Given the description of an element on the screen output the (x, y) to click on. 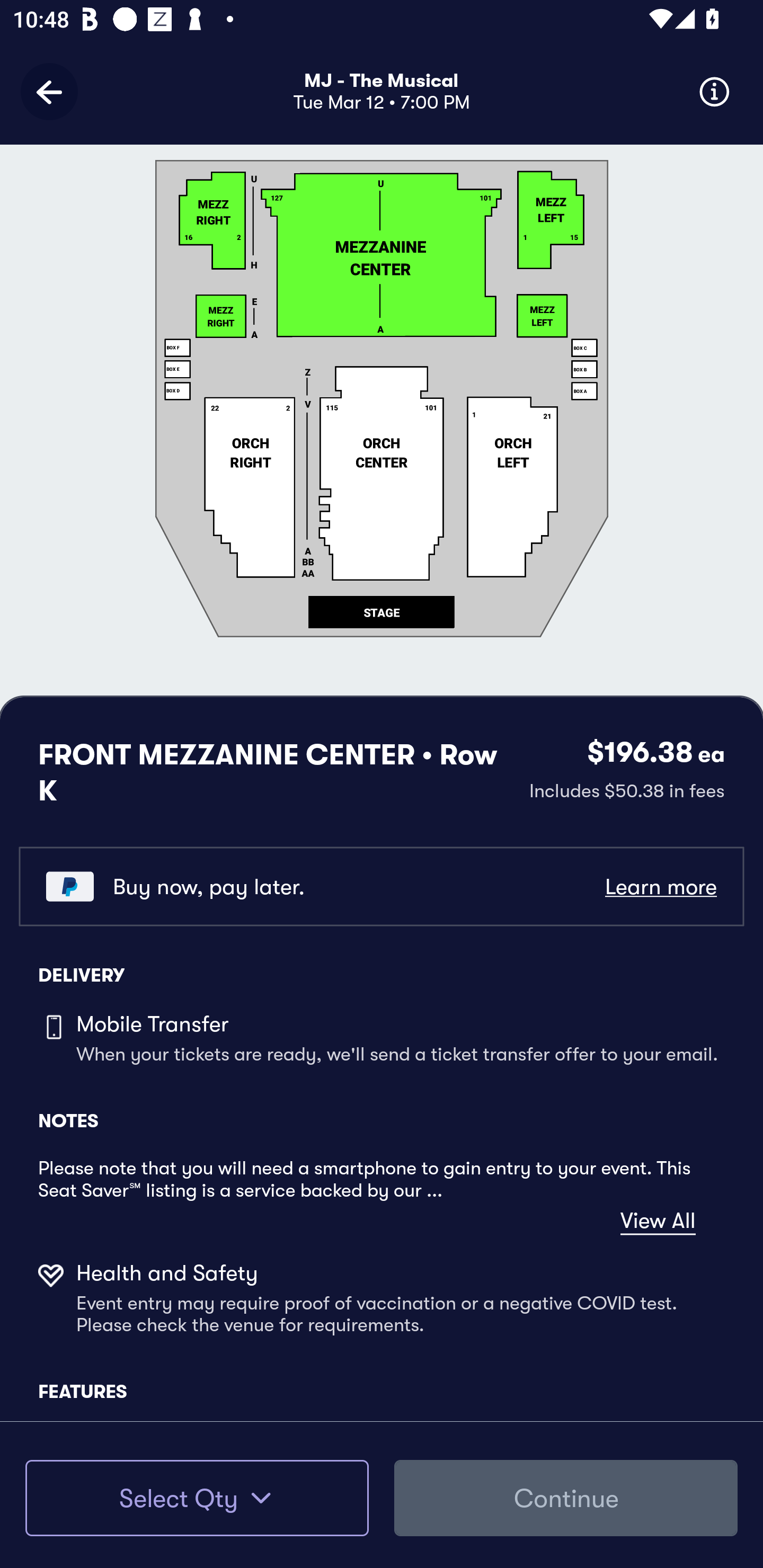
Learn more (660, 886)
View All (657, 1221)
Select Qty (196, 1497)
Continue (565, 1497)
